Given the description of an element on the screen output the (x, y) to click on. 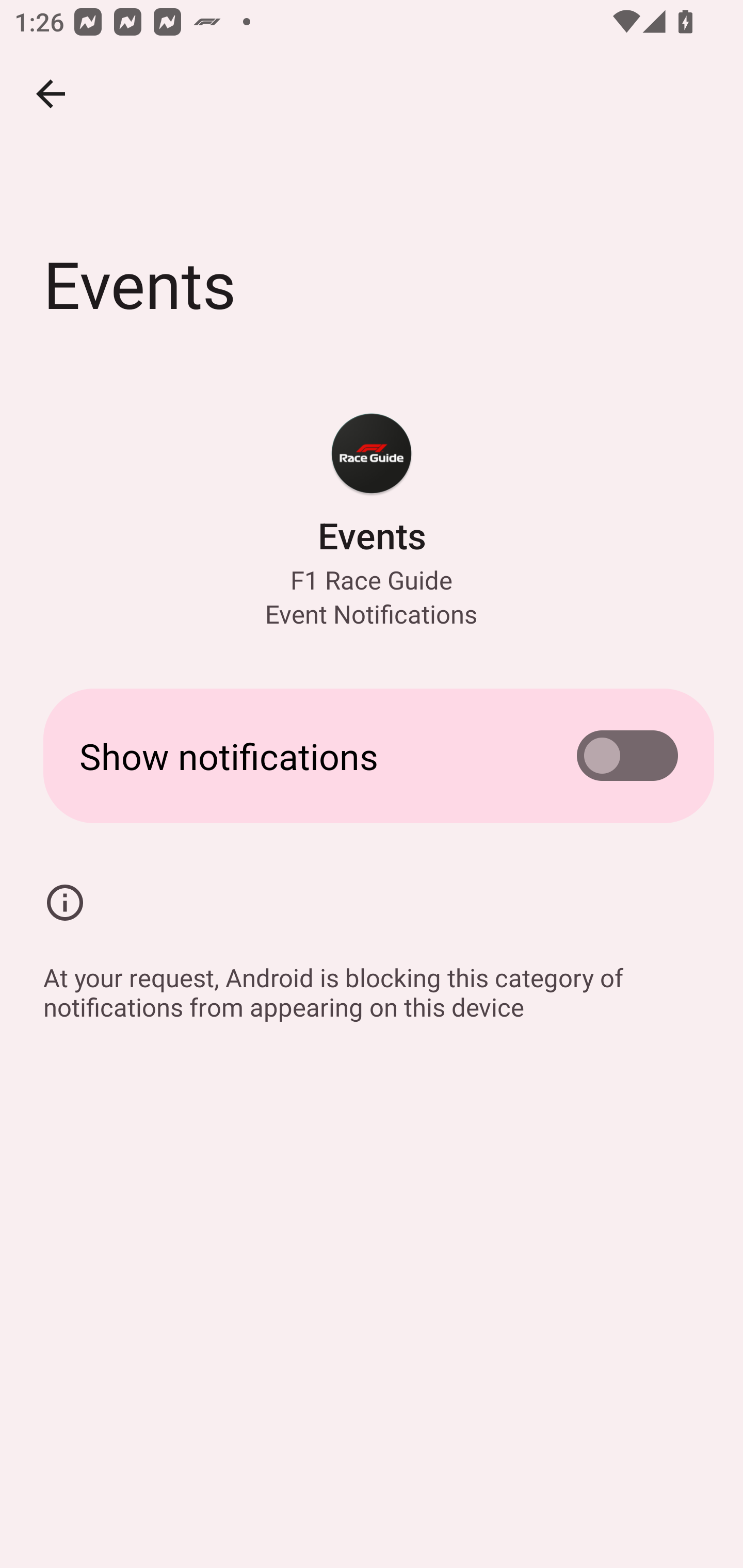
Navigate up (50, 93)
Events F1 Race Guide Event Notifications (371, 520)
Show notifications (371, 755)
